Given the description of an element on the screen output the (x, y) to click on. 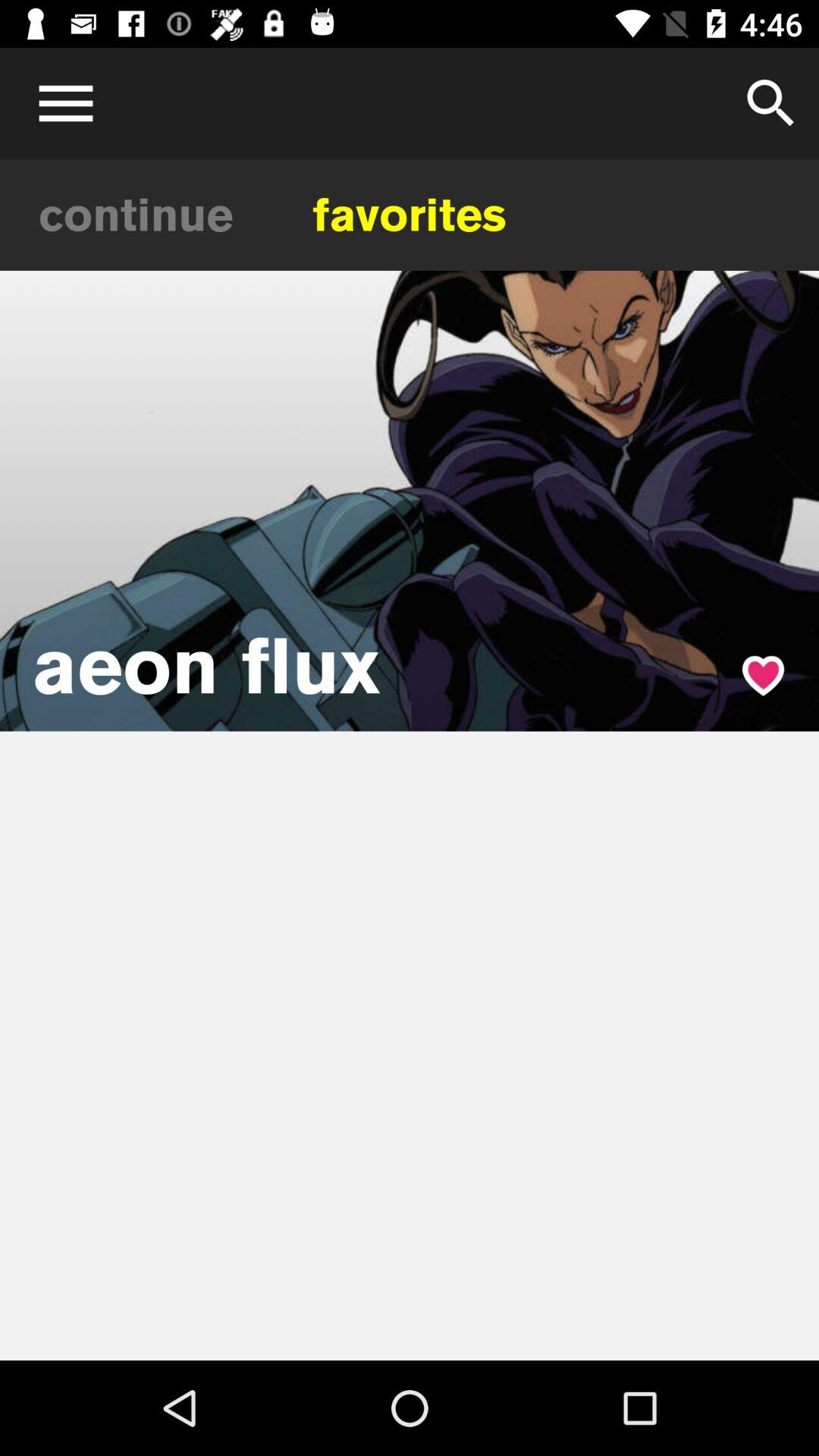
menu icone (60, 103)
